Given the description of an element on the screen output the (x, y) to click on. 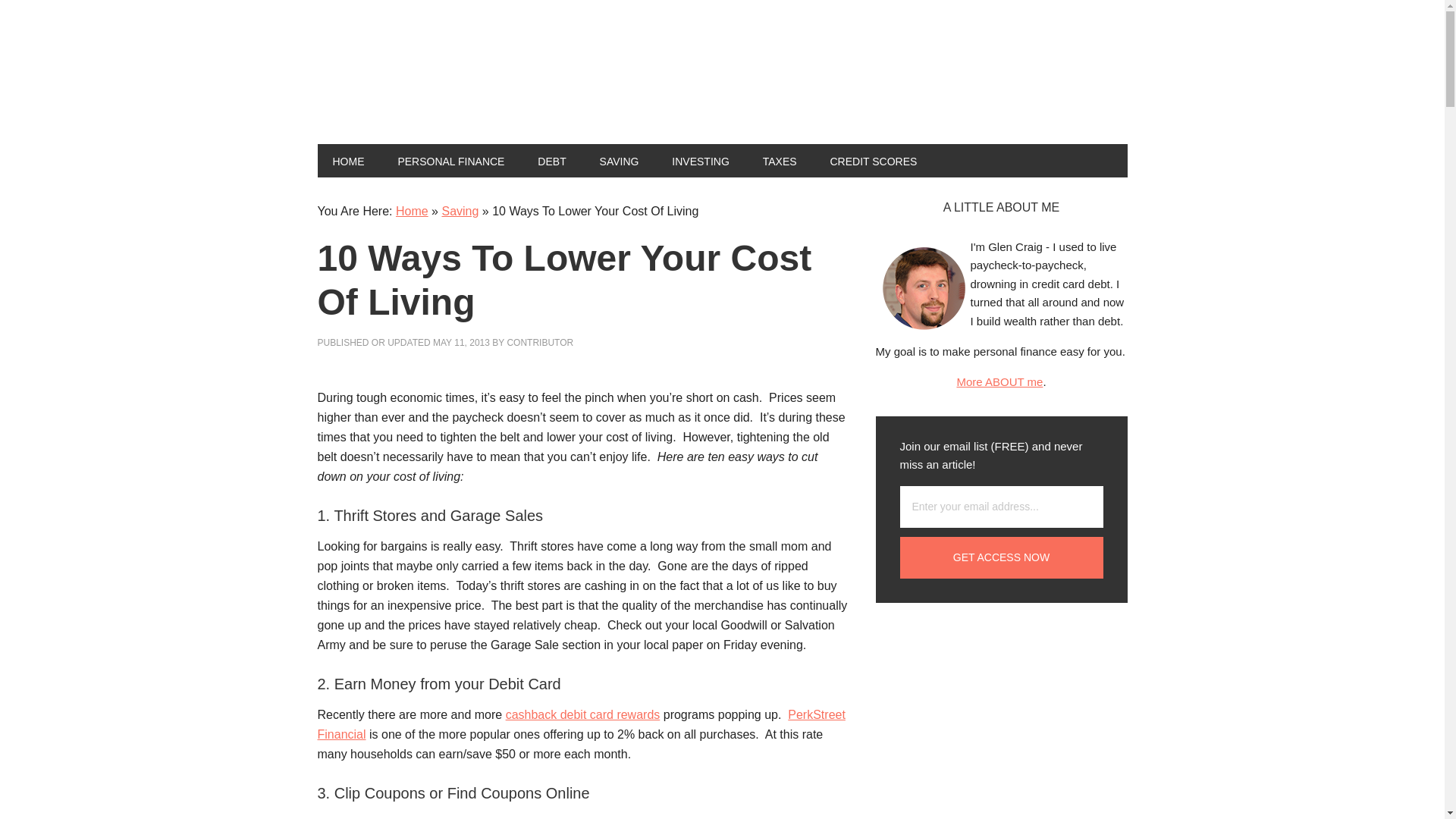
SAVING (619, 160)
Tax Articles (780, 160)
PERSONAL FINANCE (450, 160)
HOME (347, 160)
Saving (460, 210)
TAXES (780, 160)
Home (412, 210)
DEBT (551, 160)
cashback debit card rewards (583, 714)
PerkStreet Financial (580, 724)
FREE FROM BROKE (419, 81)
INVESTING (700, 160)
Get Access Now (1000, 557)
PerkStreet Financial review (580, 724)
